Given the description of an element on the screen output the (x, y) to click on. 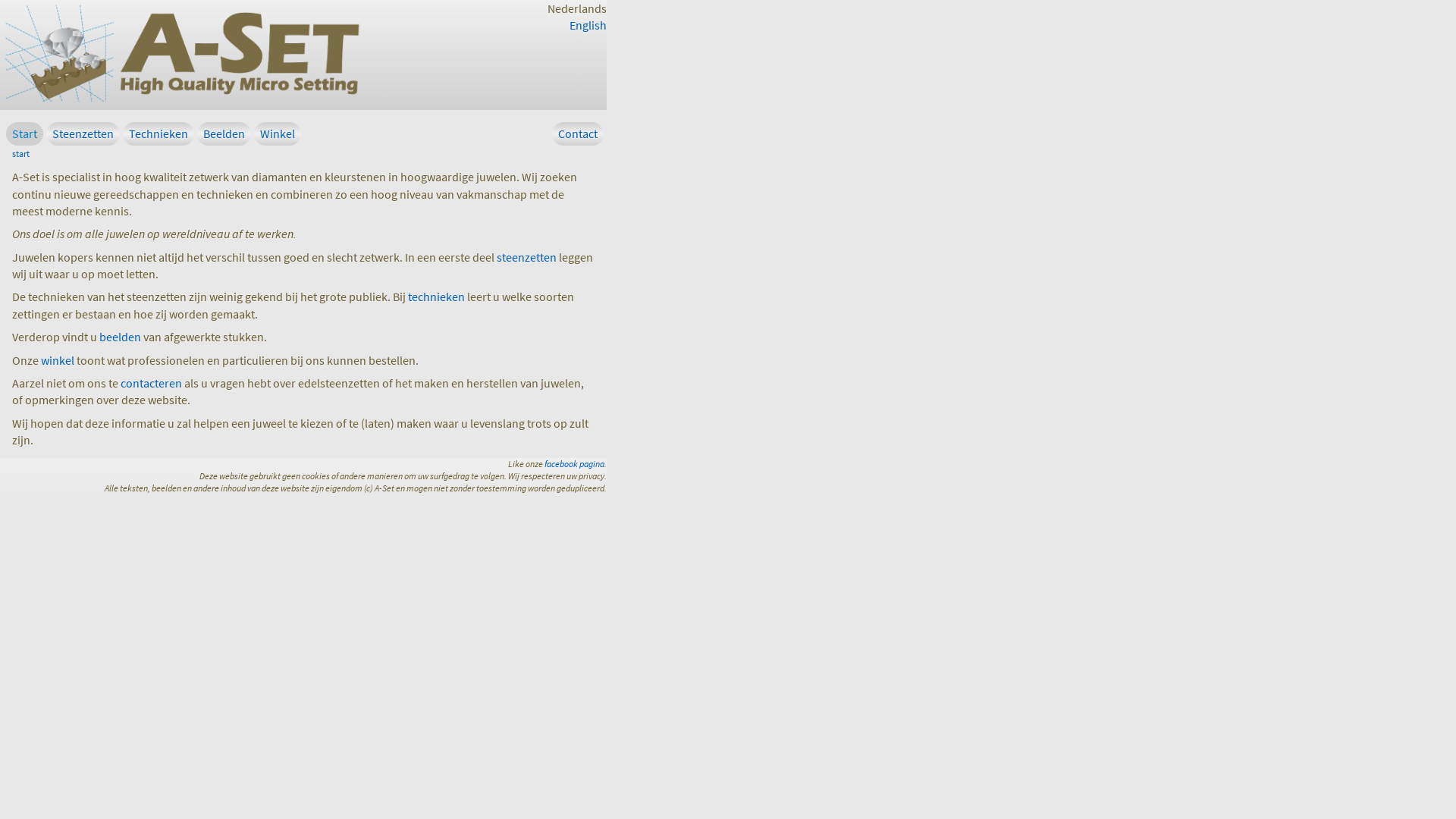
beelden Element type: text (120, 336)
Contact Element type: text (577, 133)
English Element type: text (587, 24)
Technieken Element type: text (158, 133)
start Element type: text (20, 153)
facebook pagina Element type: text (574, 463)
contacteren Element type: text (151, 382)
Beelden Element type: text (224, 133)
Start Element type: text (24, 133)
technieken Element type: text (435, 296)
steenzetten Element type: text (526, 256)
Steenzetten Element type: text (82, 133)
Winkel Element type: text (277, 133)
winkel Element type: text (57, 359)
